Given the description of an element on the screen output the (x, y) to click on. 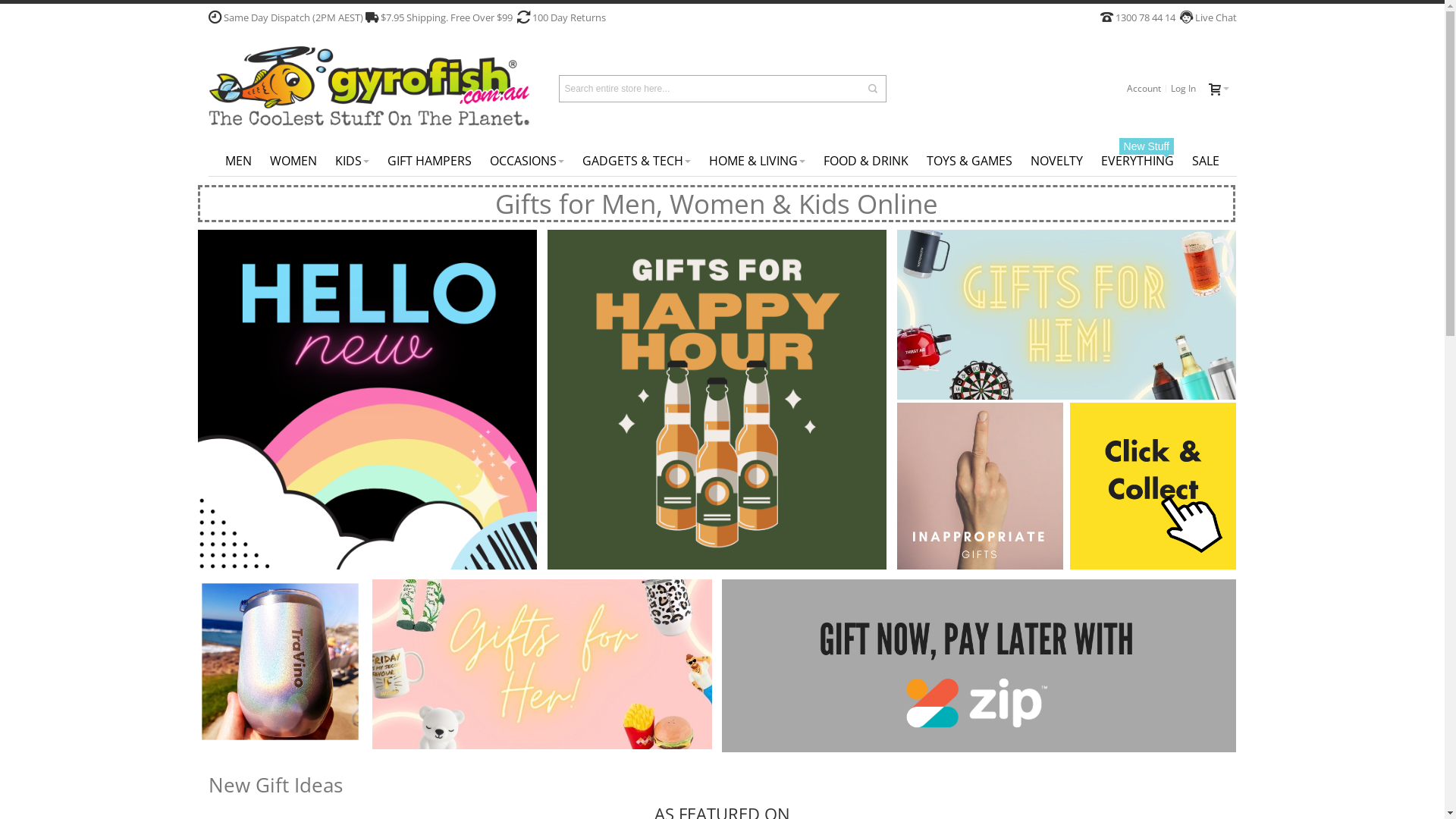
TOYS & GAMES Element type: text (969, 160)
Account Element type: text (1143, 88)
  Element type: text (1218, 88)
SALE Element type: text (1205, 160)
 $7.95 Shipping. Free Over $99  Element type: text (445, 17)
HOME & LIVING  Element type: text (756, 160)
MEN Element type: text (238, 160)
Log In Element type: text (1183, 88)
 1300 78 44 14  Element type: text (1145, 17)
FOOD & DRINK Element type: text (865, 160)
KIDS  Element type: text (352, 160)
NOVELTY Element type: text (1056, 160)
Search Element type: hover (872, 88)
 Same Day Dispatch (2PM AEST) Element type: text (292, 17)
Unique Gift Ideas Element type: hover (368, 88)
New Gift Ideas Element type: text (274, 784)
 Live Chat Element type: text (1214, 17)
OCCASIONS  Element type: text (526, 160)
EVERYTHING
New Stuff Element type: text (1137, 160)
GIFT HAMPERS Element type: text (429, 160)
GADGETS & TECH  Element type: text (636, 160)
 100 Day Returns  Element type: text (568, 17)
WOMEN Element type: text (293, 160)
